Given the description of an element on the screen output the (x, y) to click on. 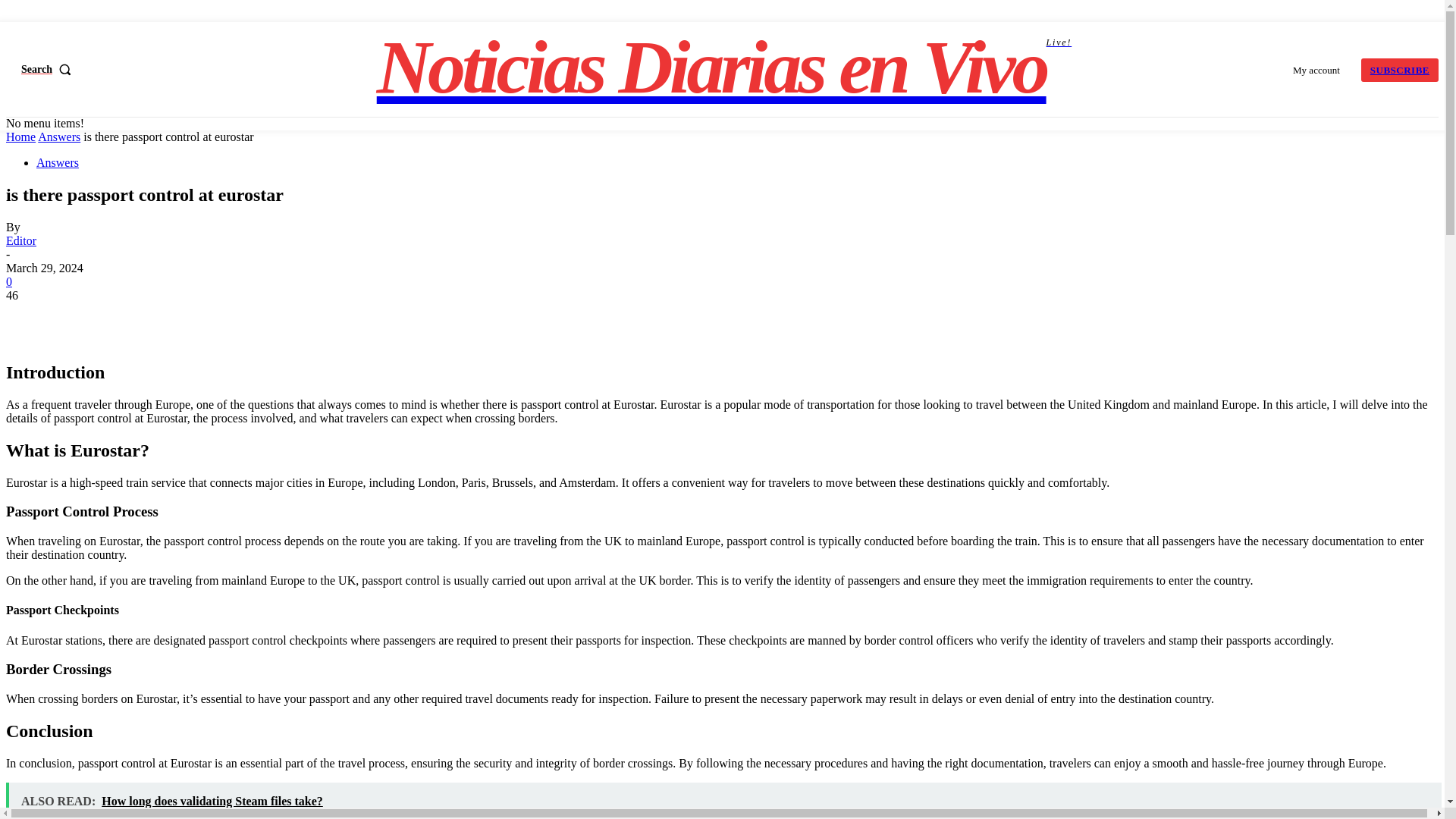
SUBSCRIBE (1399, 69)
Answers (58, 136)
Editor (20, 240)
ALSO READ:  How long does validating Steam files take? (723, 800)
Search (49, 69)
Home (19, 136)
View all posts in Answers (58, 136)
Subscribe (1399, 69)
Answers (57, 162)
